Given the description of an element on the screen output the (x, y) to click on. 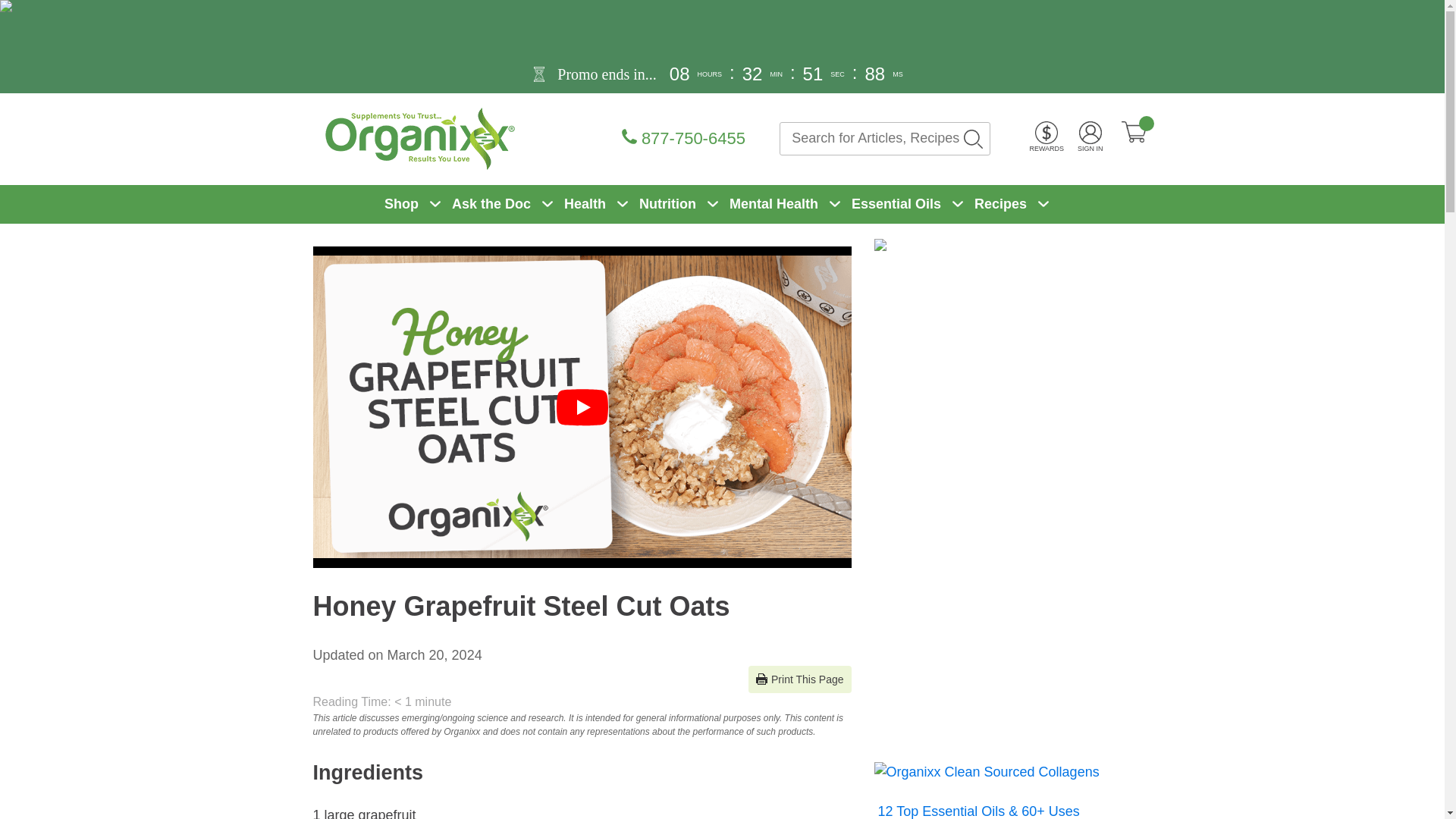
Shop (401, 204)
REWARDS (1046, 137)
877-750-6455 (658, 138)
